Given the description of an element on the screen output the (x, y) to click on. 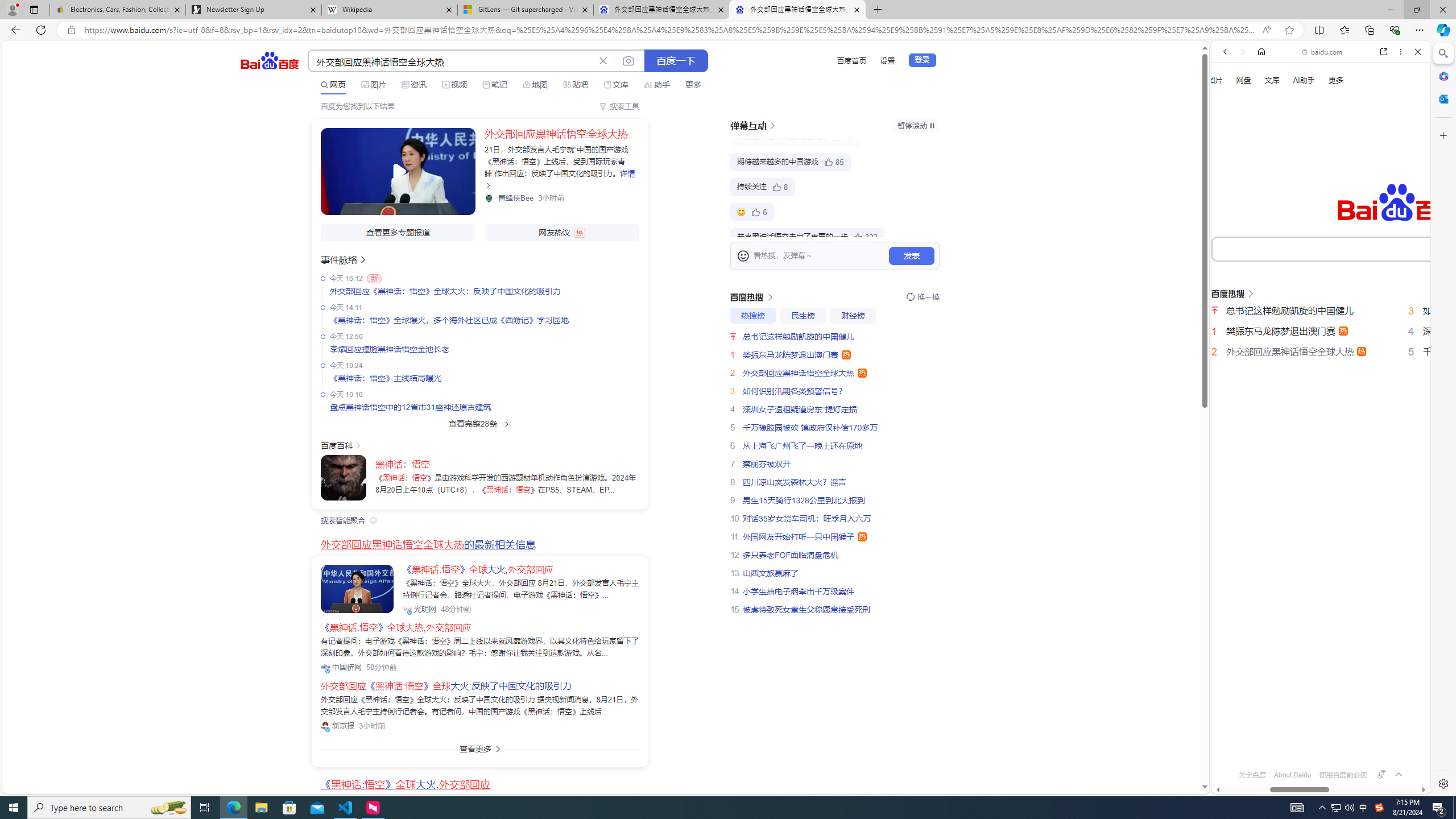
OF | English meaning - Cambridge Dictionary (1315, 238)
Read aloud this page (Ctrl+Shift+U) (1266, 29)
